Given the description of an element on the screen output the (x, y) to click on. 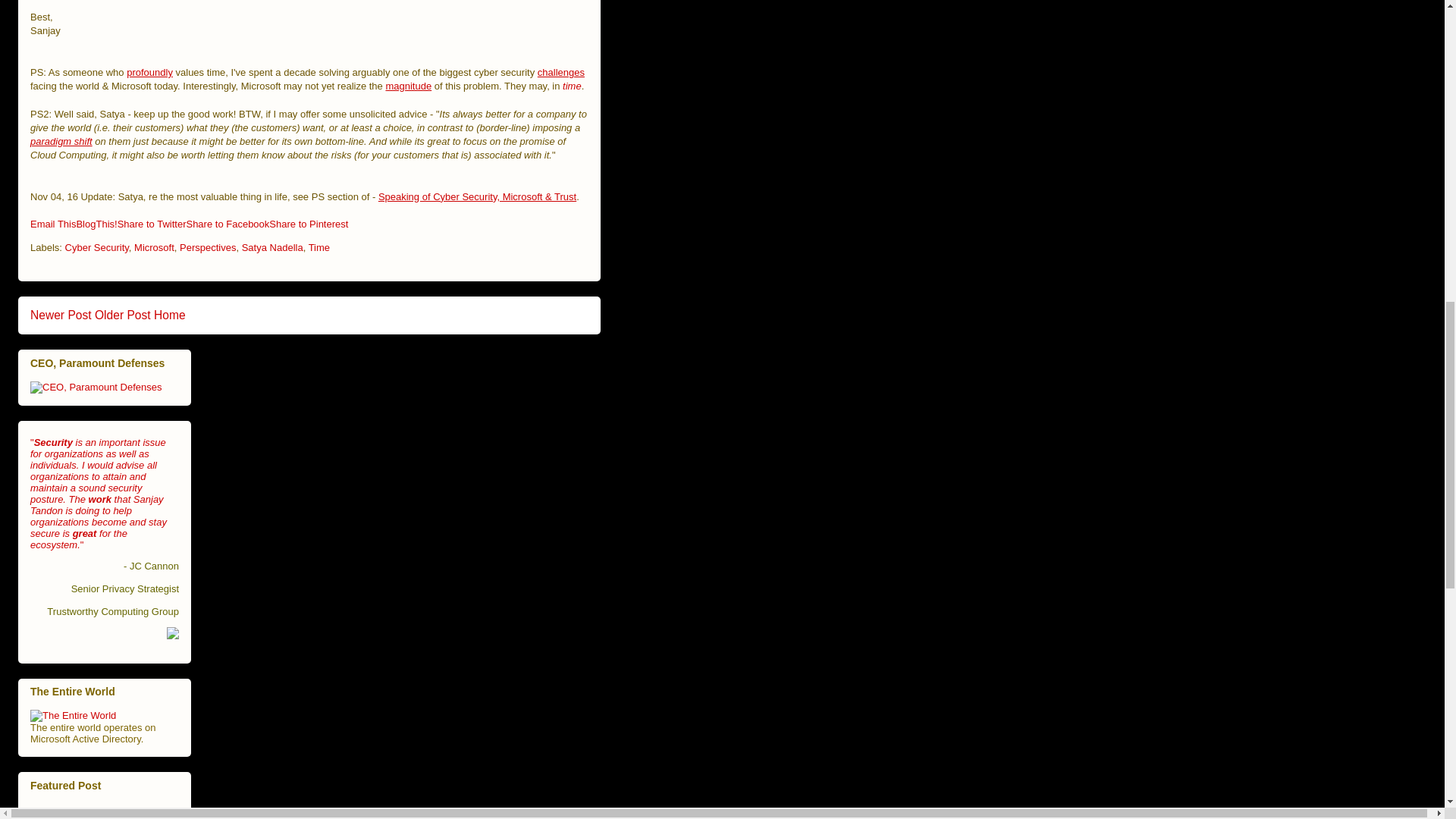
Share to Pinterest (308, 224)
Cyber Security (97, 247)
challenges (561, 71)
magnitude (407, 85)
Older Post (122, 314)
Share to Pinterest (308, 224)
Newer Post (60, 314)
BlogThis! (95, 224)
Home (170, 314)
BlogThis! (95, 224)
paradigm shift (61, 141)
Newer Post (60, 314)
Share to Twitter (151, 224)
Microsoft (153, 247)
